Given the description of an element on the screen output the (x, y) to click on. 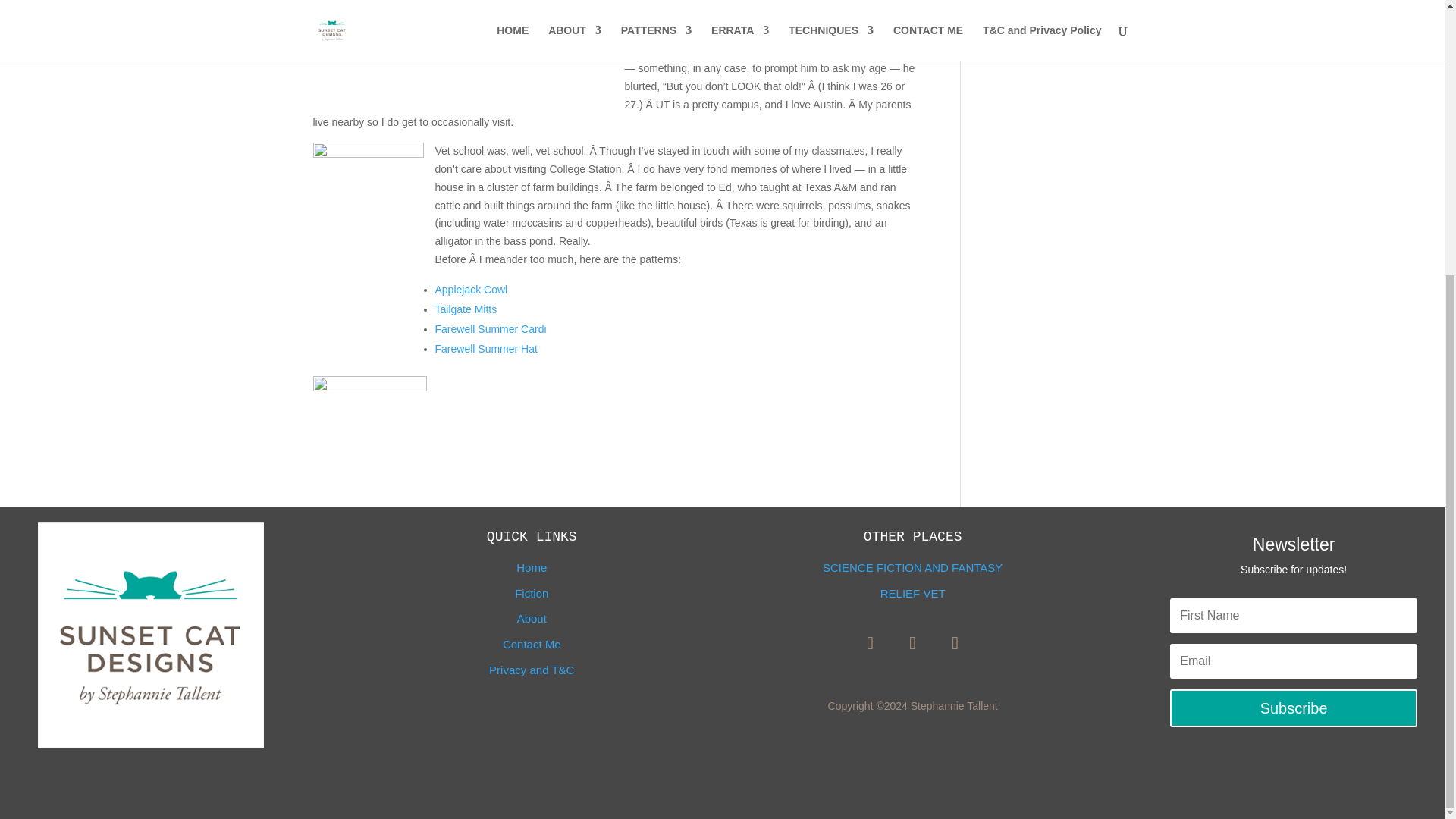
cropped-square-logo-for-landing-page-with-white-border.png (150, 635)
tailgate mitt 1 (555, 50)
mfpp hat cropped 2 (369, 432)
Follow on Facebook (869, 642)
Follow on X (913, 642)
Follow on Instagram (955, 642)
Cover Sept 2012 MFPP Autumn Nostalgia Stephannie Tallent (400, 6)
